Given the description of an element on the screen output the (x, y) to click on. 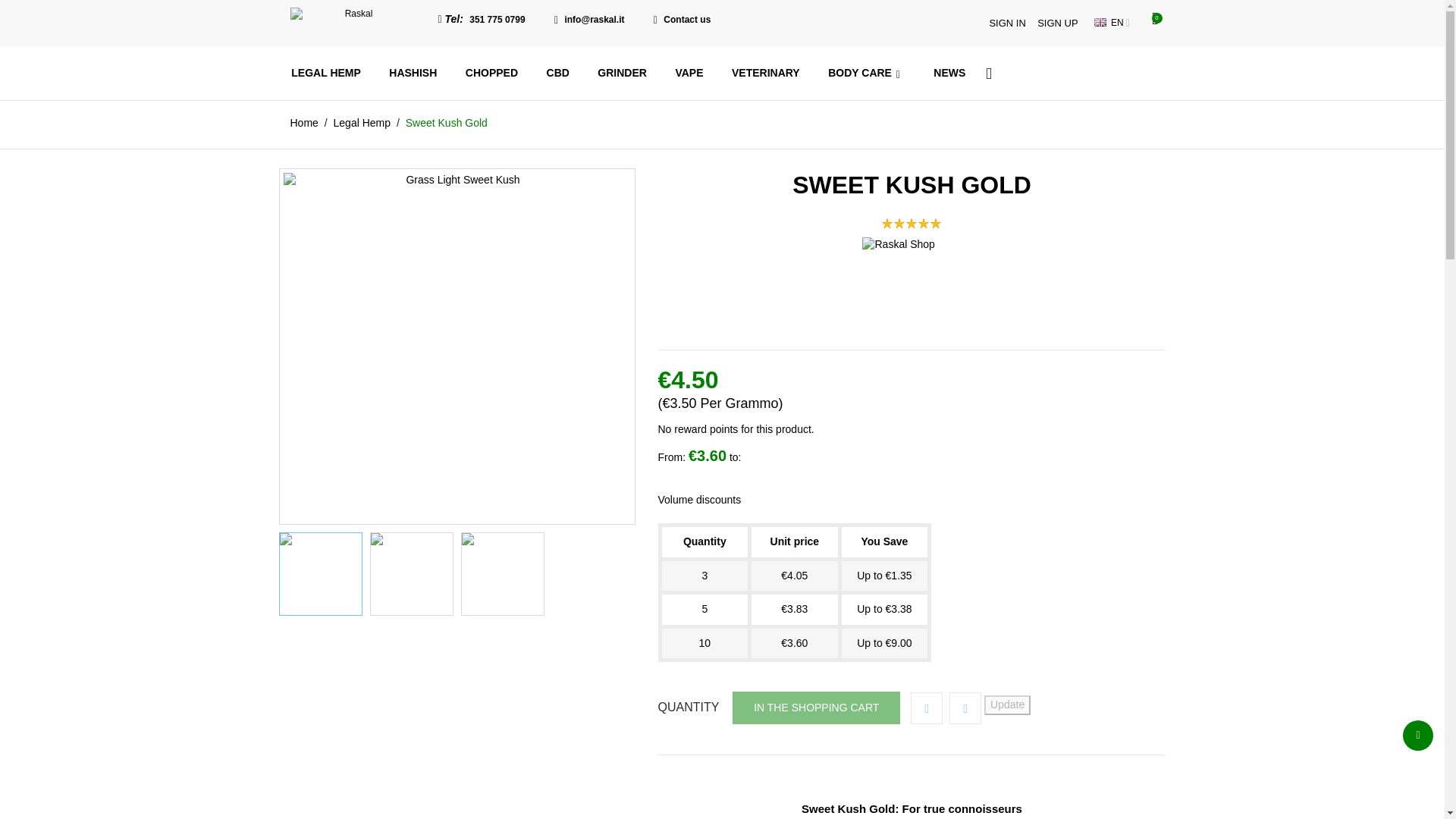
Grass Light Sweet Kush (320, 573)
Grass Light Sweet Kush (456, 346)
GRINDER (622, 73)
SIGN UP (1056, 23)
flag en (1100, 22)
Update (1007, 704)
Share (926, 707)
LEGAL HEMP (326, 73)
Legal Hemp (363, 122)
Sweet Kush - 4 (410, 573)
